Given the description of an element on the screen output the (x, y) to click on. 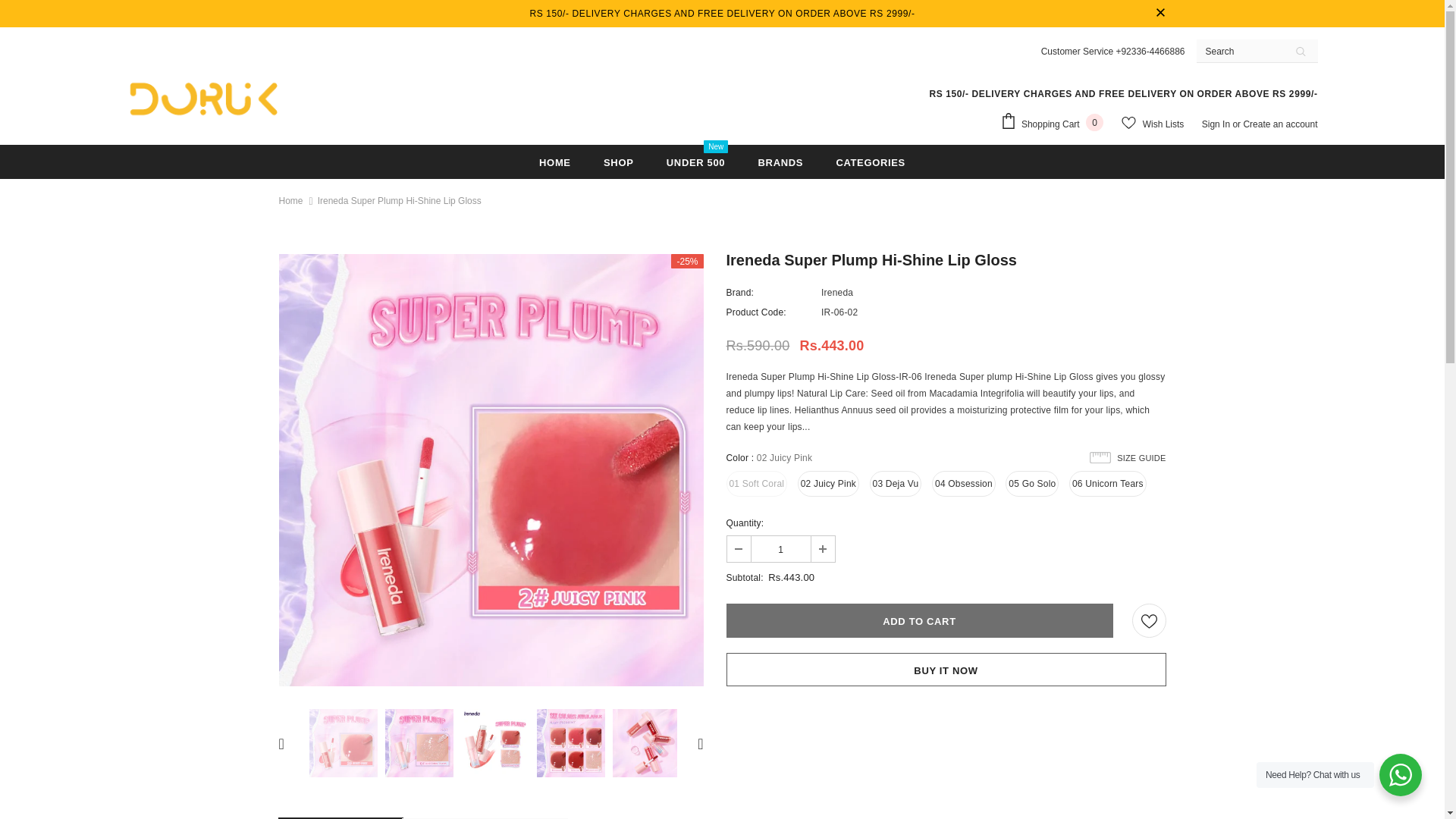
Create an account (1280, 123)
Wish Lists (1152, 123)
BRANDS (780, 161)
Shopping Cart 0 (1055, 123)
Add to cart (919, 620)
1 (780, 548)
Sign In (695, 161)
CATEGORIES (1217, 123)
Cart (870, 161)
HOME (1055, 123)
Ireneda (554, 161)
My Wish Lists (837, 292)
Logo (1152, 123)
close (203, 98)
